Given the description of an element on the screen output the (x, y) to click on. 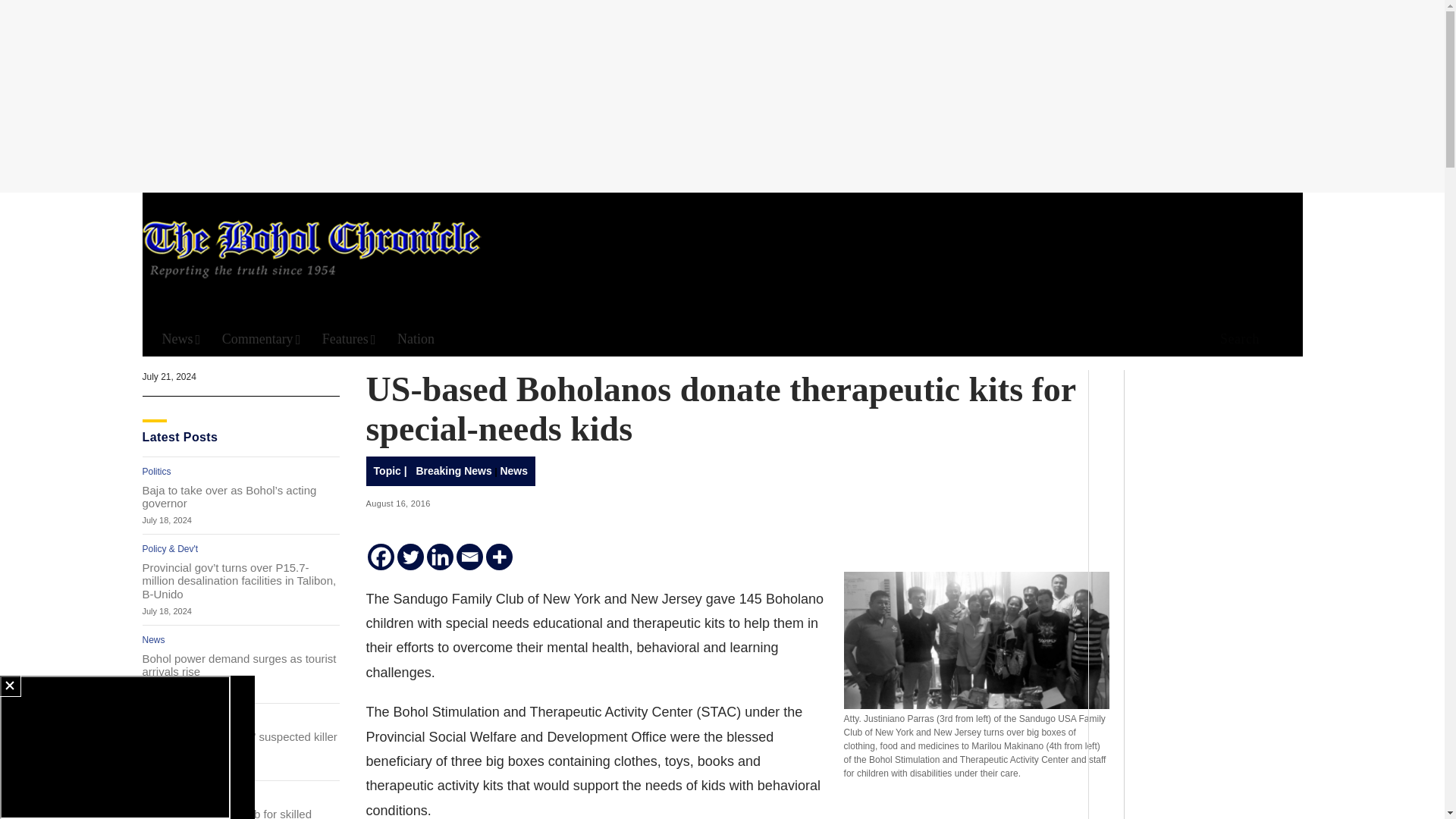
Search (1234, 339)
News (180, 339)
Law and Crime (172, 717)
Email (470, 556)
Search (946, 157)
Politics (156, 471)
News (153, 639)
Commentary (261, 339)
Facebook (381, 556)
More (499, 556)
Features (348, 339)
Twitter (410, 556)
Bohol power demand surges as tourist arrivals rise (240, 664)
Linkedin (439, 556)
